Given the description of an element on the screen output the (x, y) to click on. 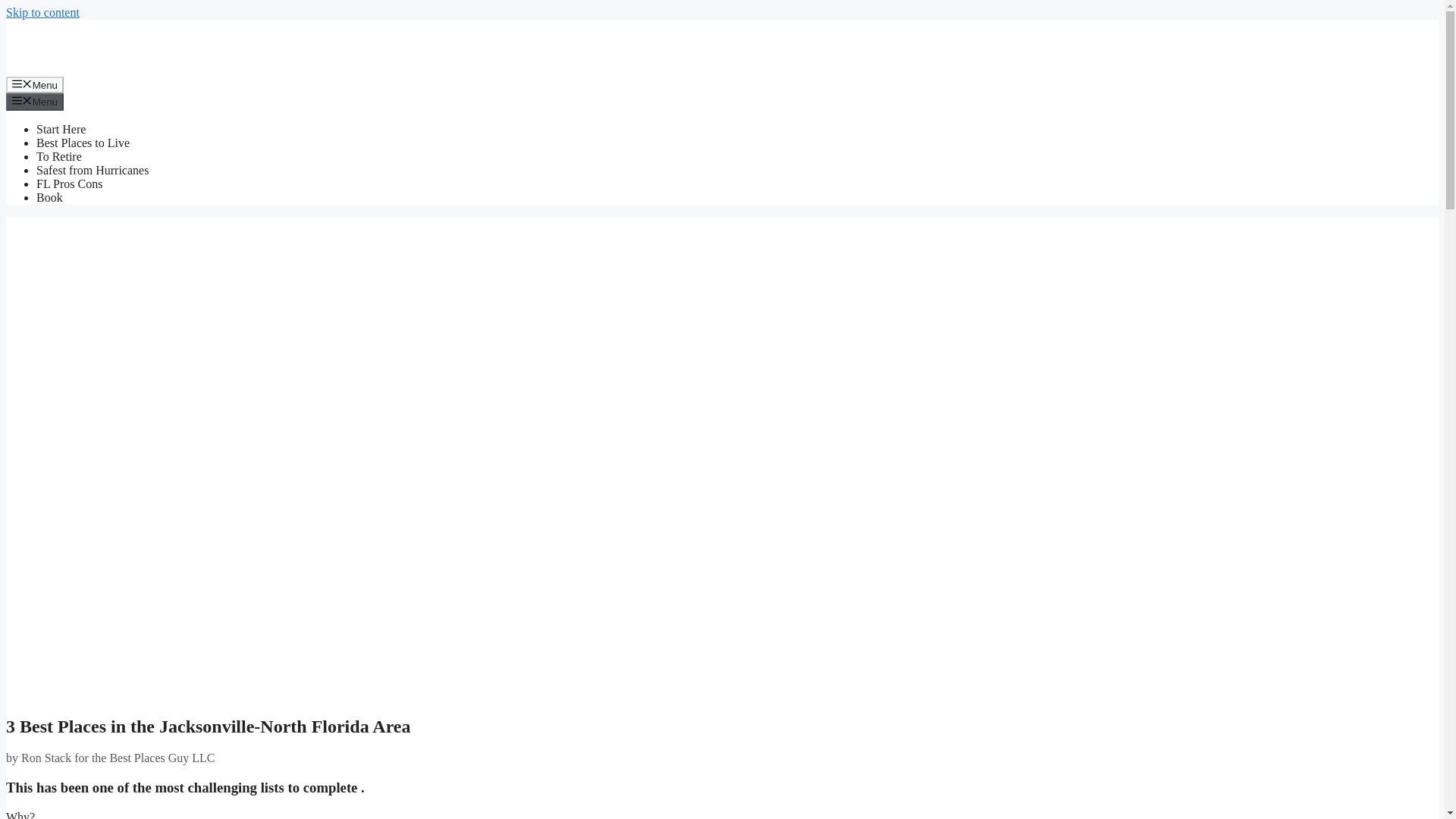
Menu (34, 84)
To Retire (58, 155)
FL Pros Cons (68, 183)
Skip to content (42, 11)
Book (49, 196)
Start Here (60, 128)
Menu (34, 101)
Skip to content (42, 11)
Safest from Hurricanes (92, 169)
Best Places to Live (82, 142)
